Given the description of an element on the screen output the (x, y) to click on. 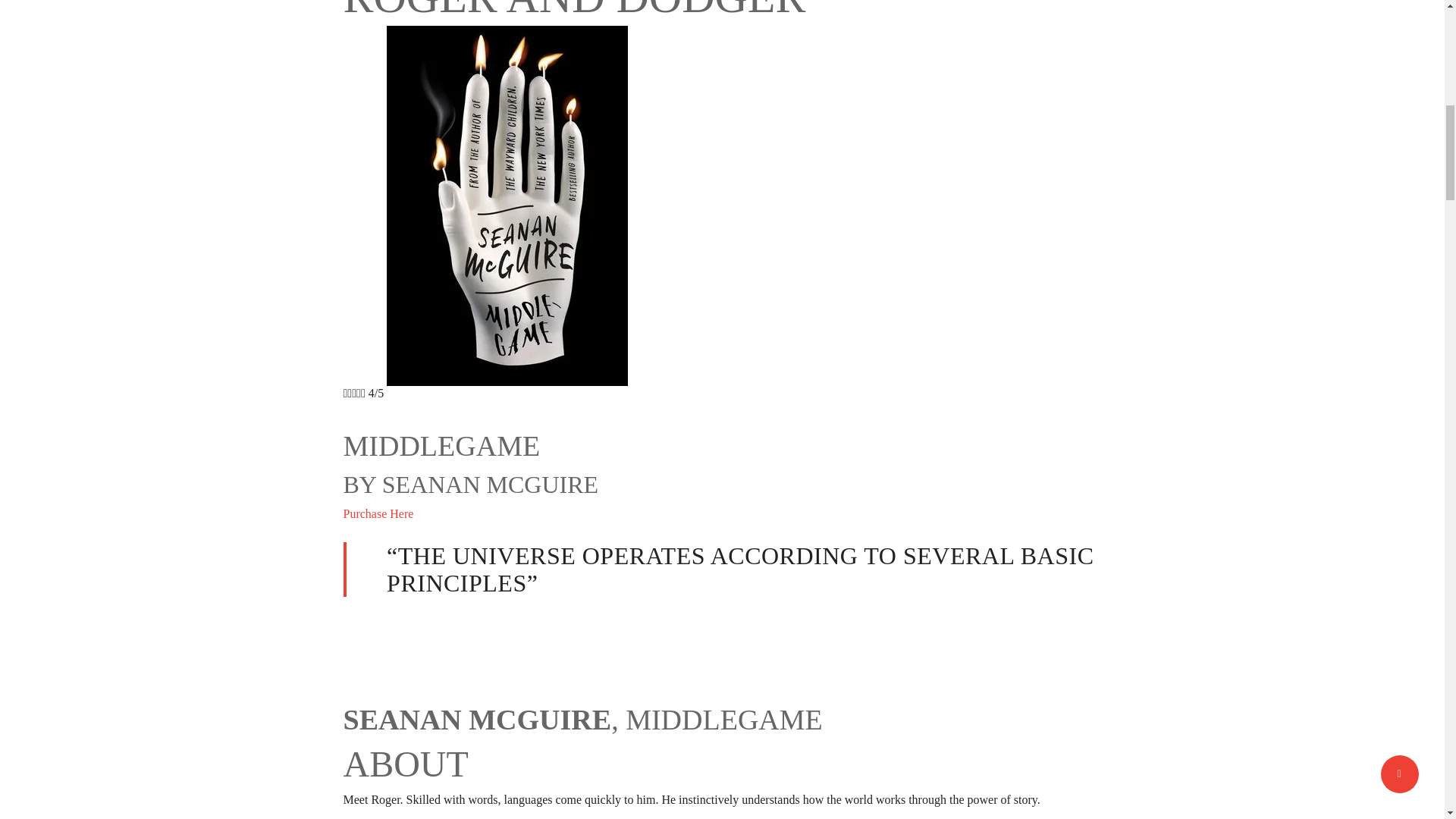
Purchase Here (377, 513)
